Given the description of an element on the screen output the (x, y) to click on. 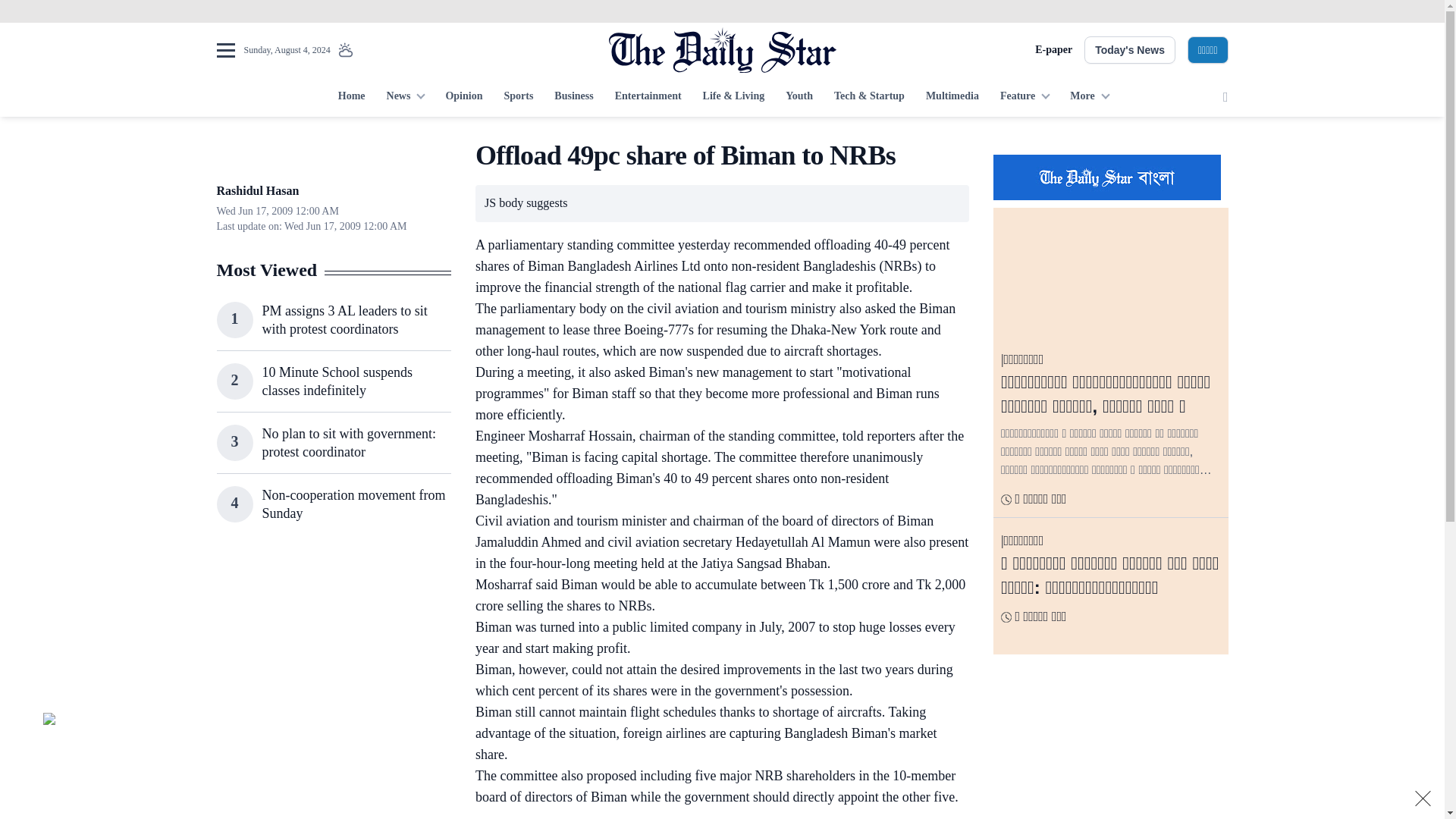
Entertainment (647, 96)
Sports (518, 96)
Opinion (463, 96)
Youth (799, 96)
Home (351, 96)
Business (573, 96)
News (405, 96)
Multimedia (952, 96)
Feature (1024, 96)
Today's News (1129, 49)
E-paper (1053, 49)
